Given the description of an element on the screen output the (x, y) to click on. 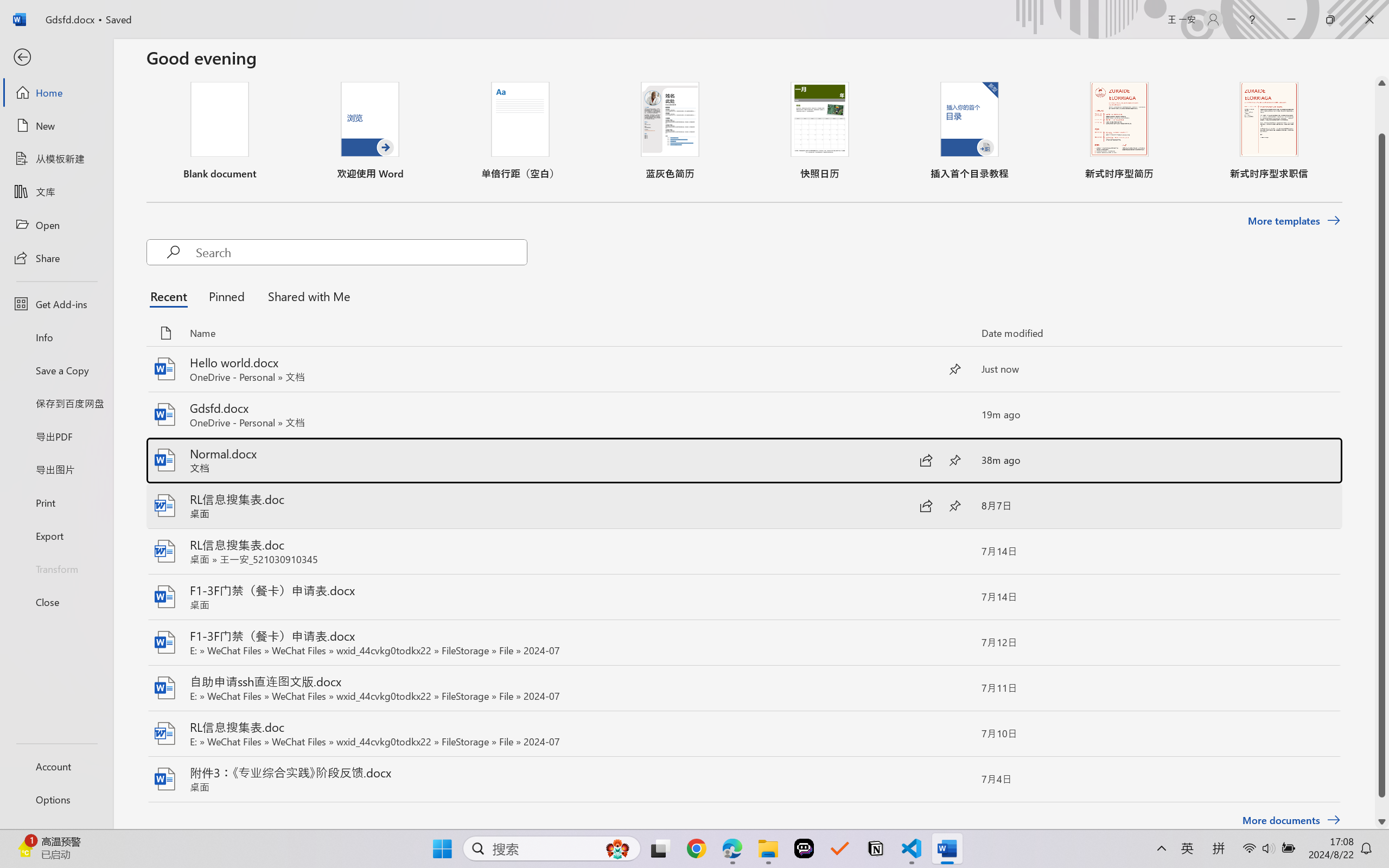
Account (56, 765)
Back (56, 57)
Class: NetUIScrollBar (1382, 452)
Line up (1382, 83)
Pinned (226, 295)
